Given the description of an element on the screen output the (x, y) to click on. 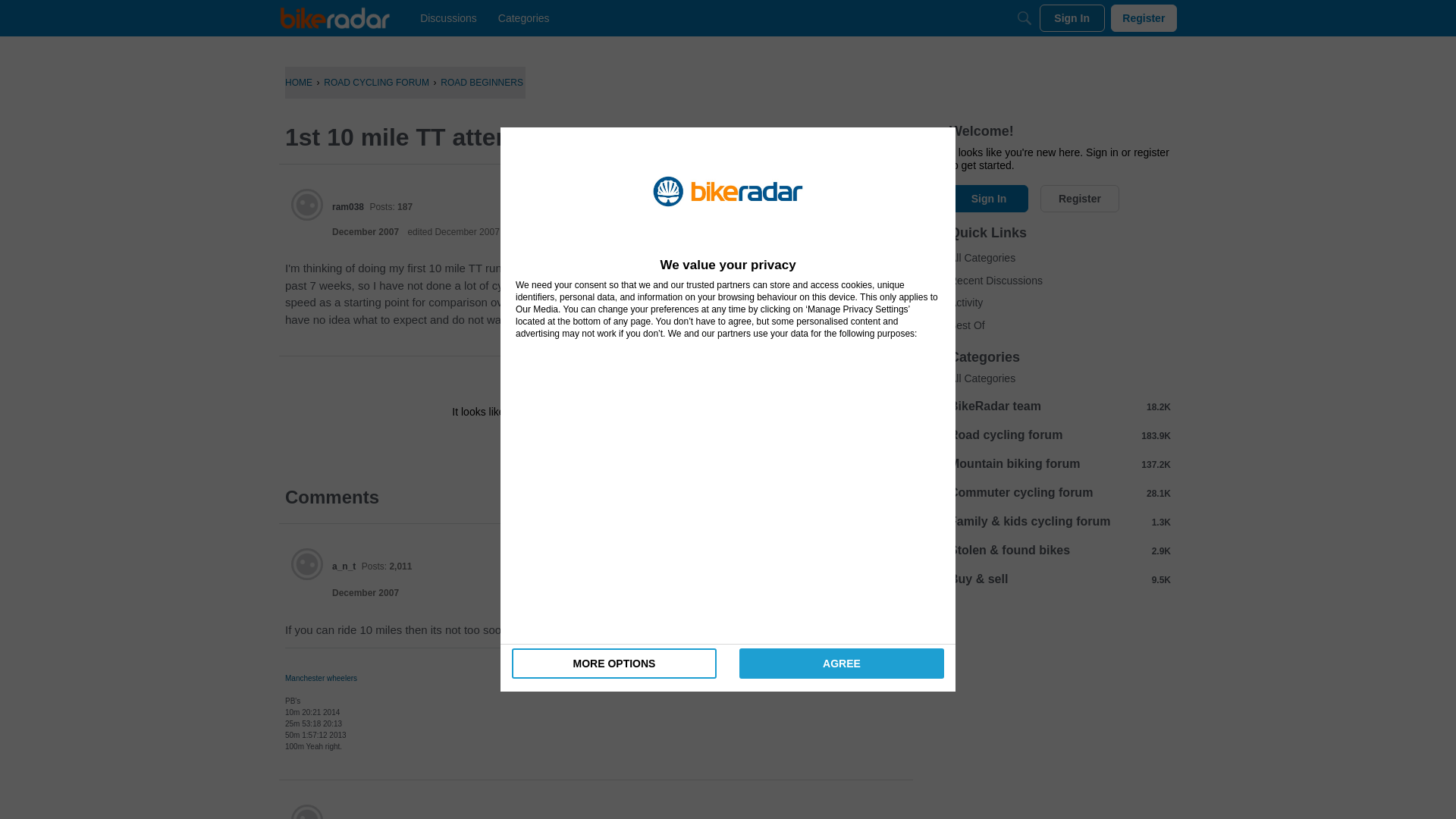
December 2007 (364, 593)
December 13, 2007 5:30PM (364, 593)
CarlosFerreiro (307, 811)
Register (638, 445)
Manchester wheelers (320, 678)
Discussions (448, 17)
December 13, 2007 5:17PM (364, 231)
Search (1024, 17)
Sign In (547, 445)
Register (1143, 17)
Edited December 31, 2007 1:33AM. (453, 231)
ram038 (307, 204)
Sign In (547, 445)
ram038 (347, 206)
Sign In (1072, 17)
